Given the description of an element on the screen output the (x, y) to click on. 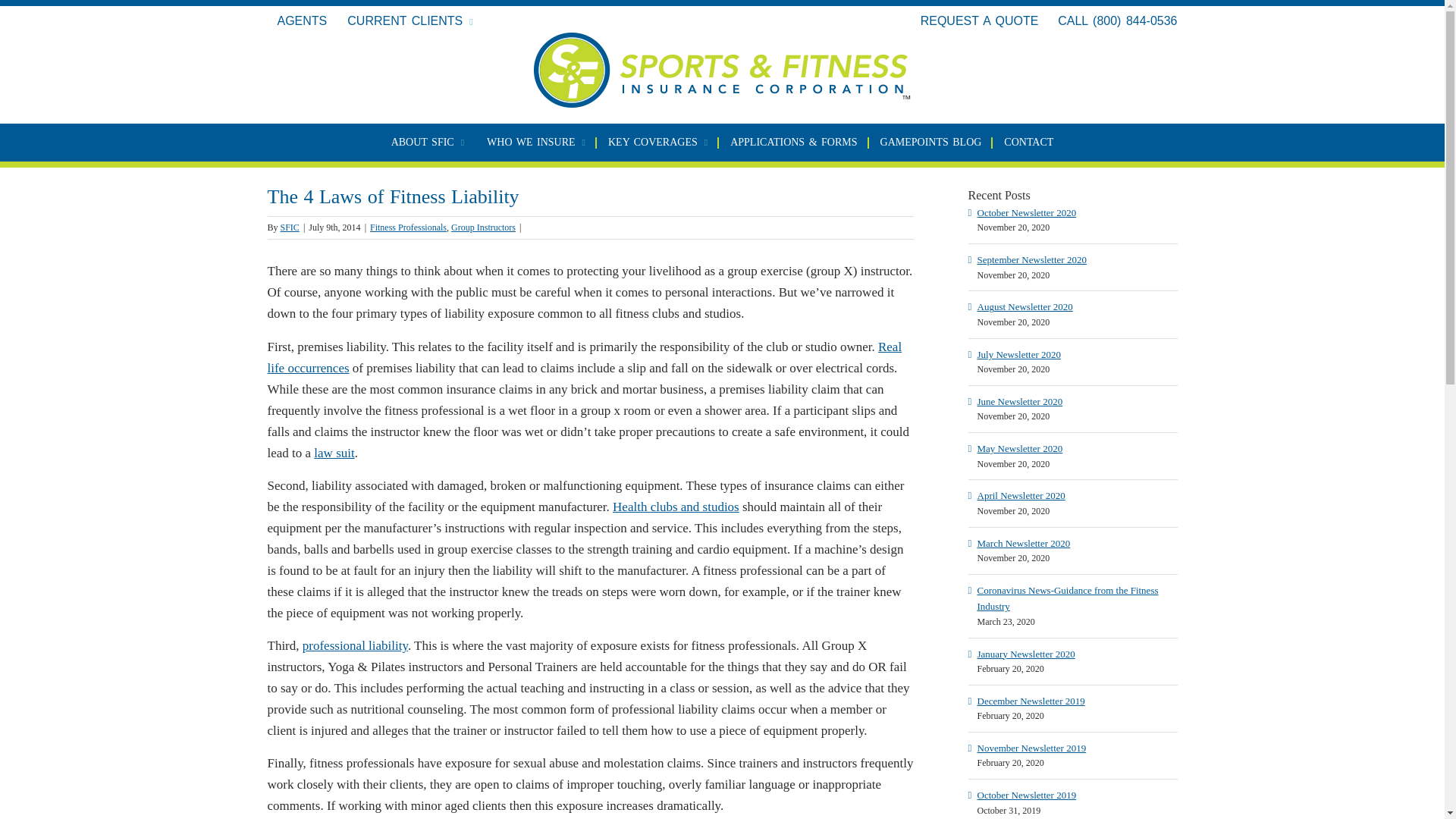
AGENTS (301, 20)
WHO WE INSURE (535, 142)
REQUEST A QUOTE (979, 20)
GAMEPOINTS BLOG (930, 142)
Posts by SFIC (290, 226)
ABOUT SFIC (427, 142)
CURRENT CLIENTS (409, 20)
KEY COVERAGES (657, 142)
CONTACT (1028, 142)
